Given the description of an element on the screen output the (x, y) to click on. 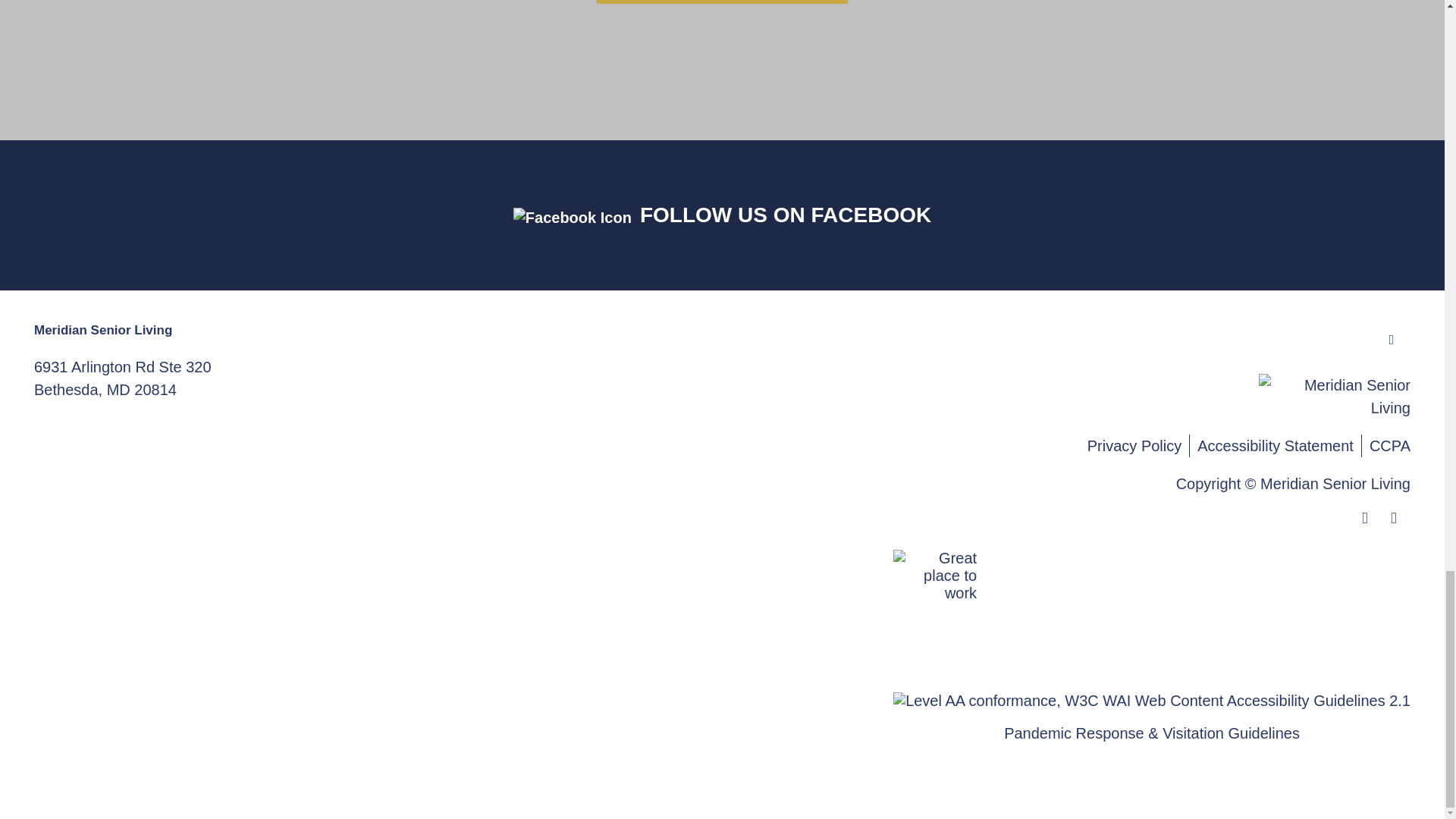
Accessibility Statement (1278, 445)
FOLLOW US ON FACEBOOK (785, 214)
Privacy Policy (1138, 445)
CCPA (1390, 445)
FIND YOUR COMMUNITY (721, 2)
Equal Opportunity Housing (1372, 519)
Facebook (122, 378)
